Given the description of an element on the screen output the (x, y) to click on. 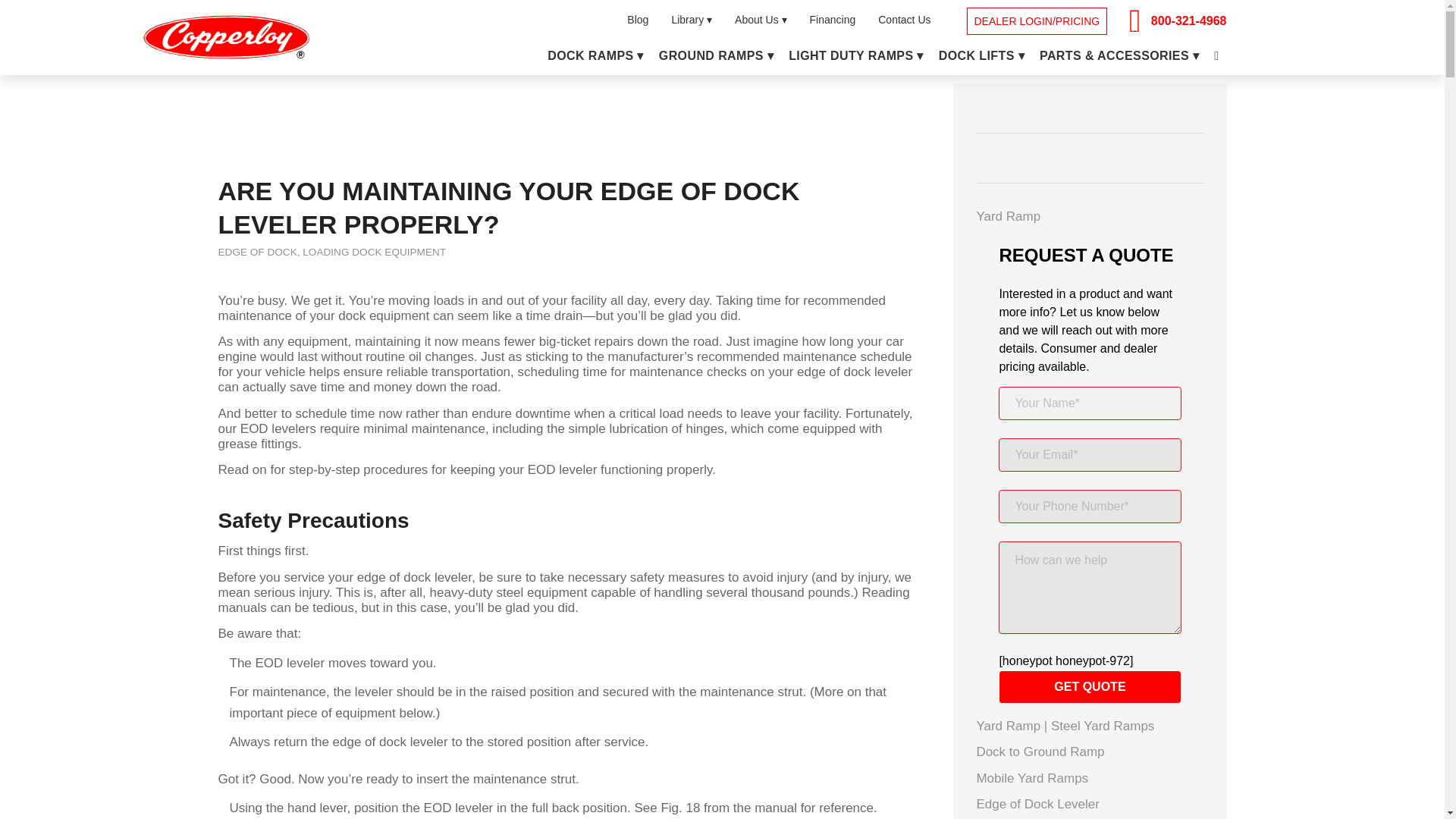
Library (703, 19)
About Us (772, 19)
800-321-4968 (1189, 20)
Financing (844, 19)
Blog (649, 19)
DOCK RAMPS (595, 55)
Contact Us (915, 19)
GET QUOTE (1089, 686)
